Given the description of an element on the screen output the (x, y) to click on. 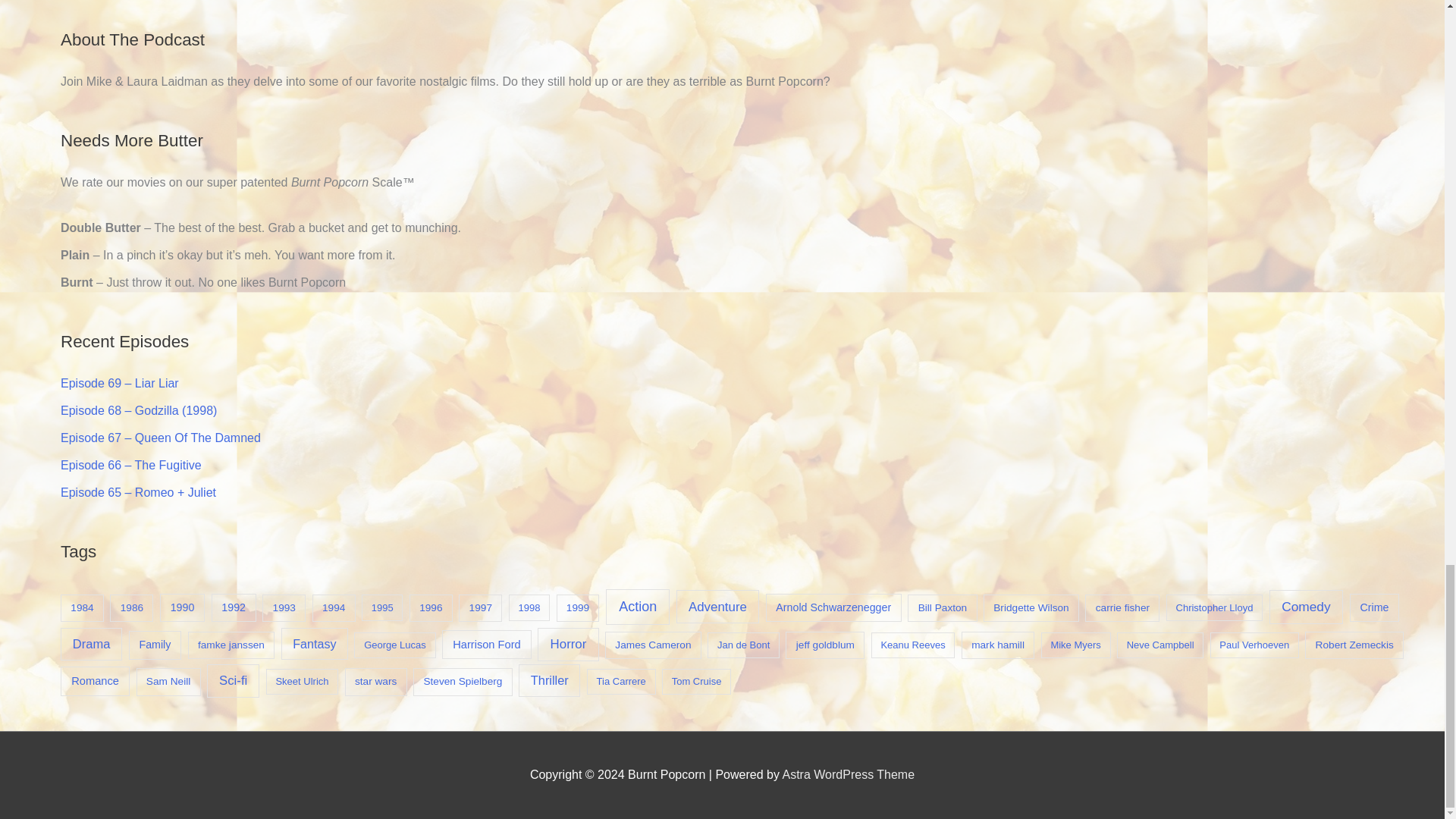
1984 (82, 607)
1986 (131, 607)
1994 (334, 607)
1996 (430, 607)
1990 (182, 607)
1995 (382, 607)
1997 (480, 607)
1993 (283, 607)
1998 (529, 607)
1992 (233, 607)
